Given the description of an element on the screen output the (x, y) to click on. 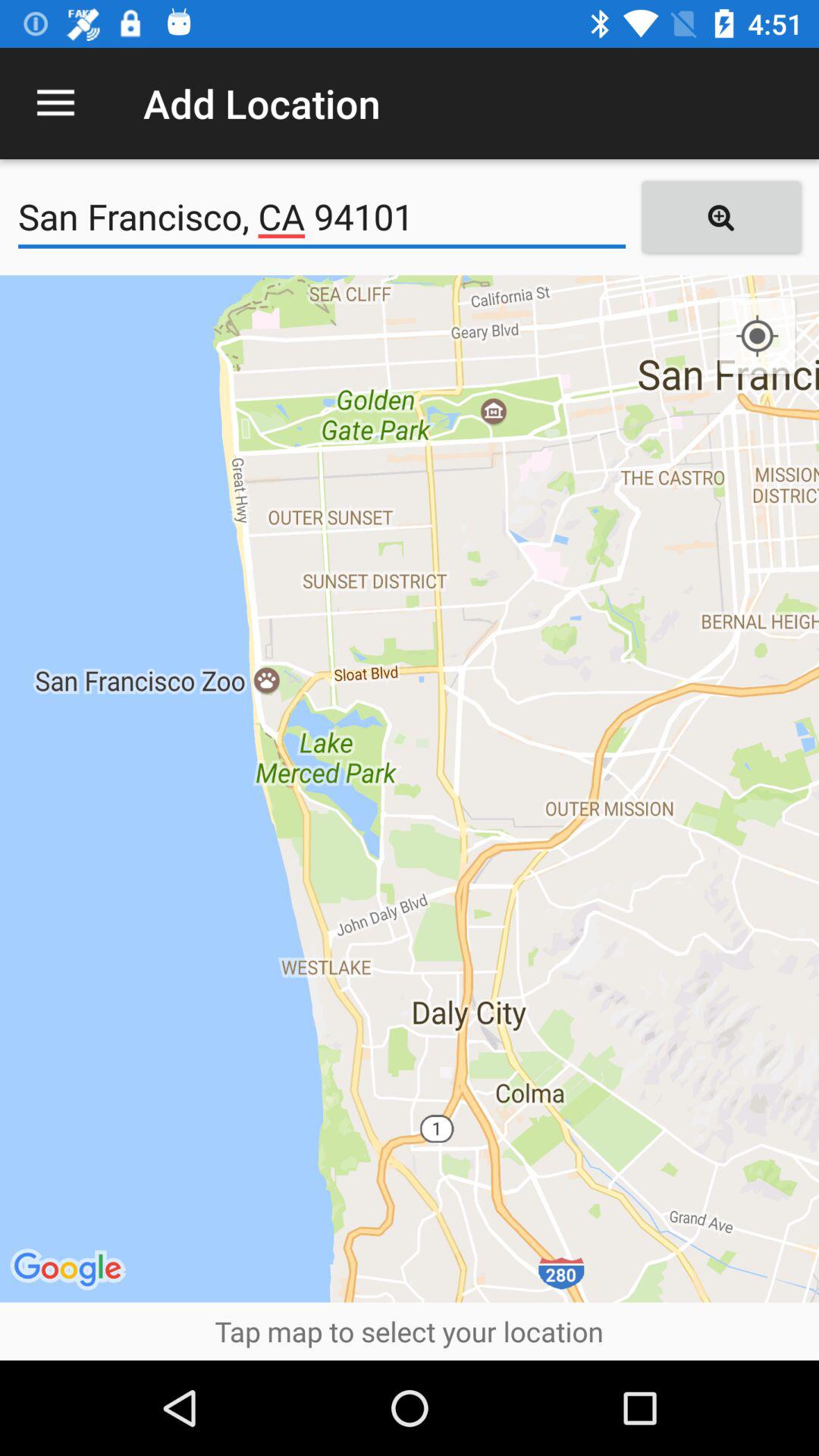
launch the icon above the tap map to item (409, 788)
